Given the description of an element on the screen output the (x, y) to click on. 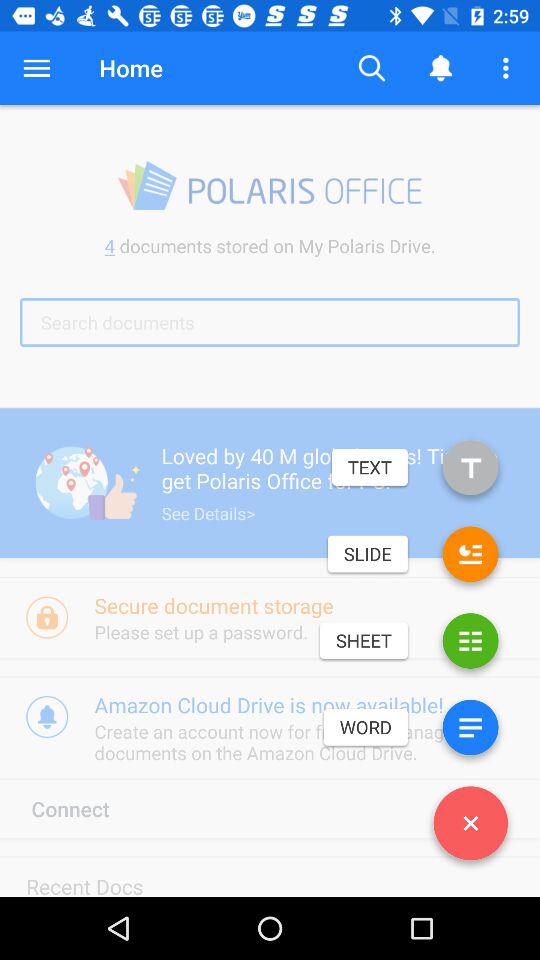
launch the icon to the right of the sheet item (470, 644)
